Given the description of an element on the screen output the (x, y) to click on. 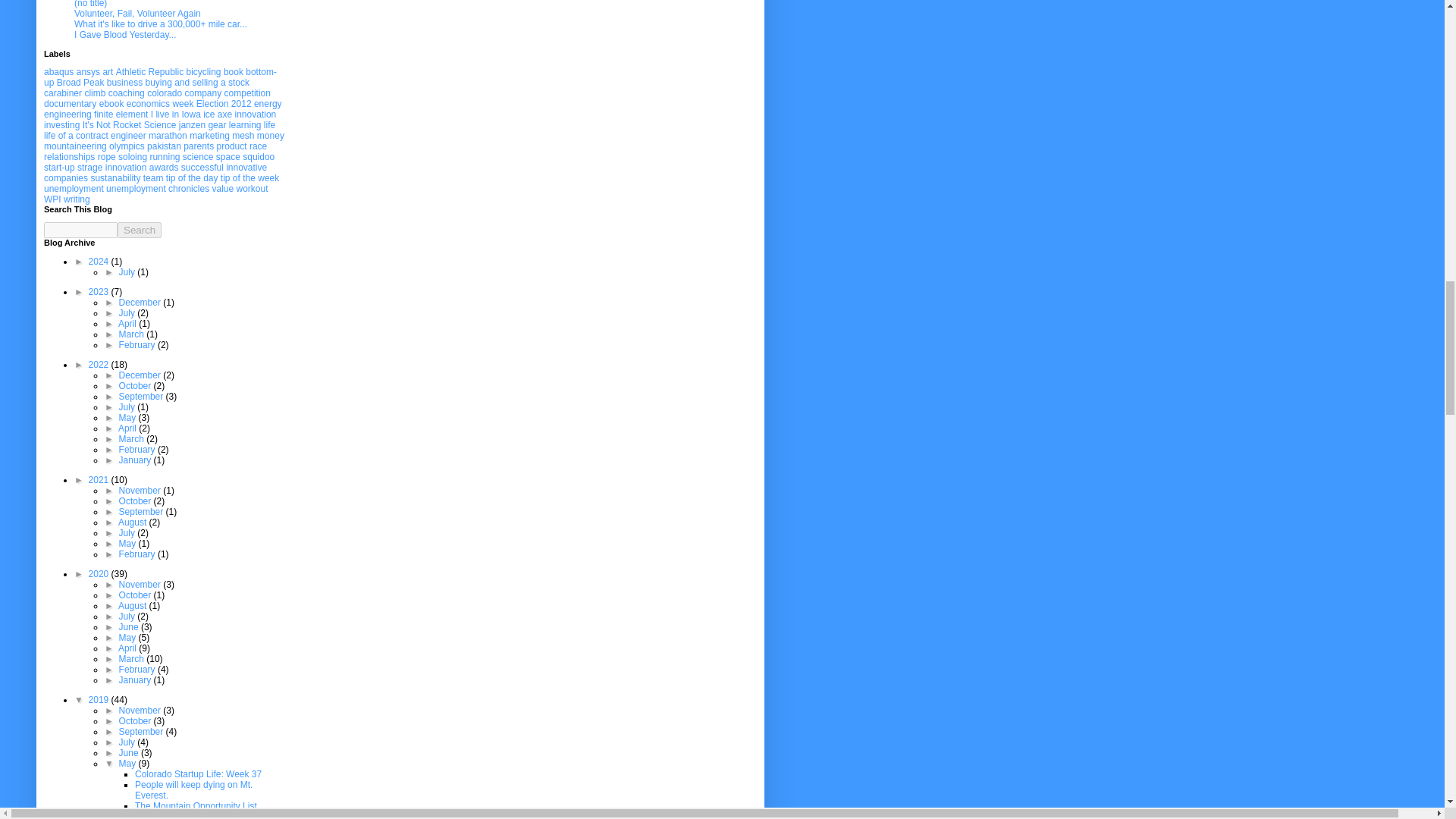
book (233, 71)
Volunteer, Fail, Volunteer Again (137, 13)
bottom-up (159, 76)
art (107, 71)
carabiner (62, 92)
I Gave Blood Yesterday... (125, 34)
Search (139, 229)
abaqus (58, 71)
Search (139, 229)
business (124, 81)
search (80, 229)
ansys (88, 71)
buying and selling a stock (196, 81)
search (139, 229)
Athletic Republic (149, 71)
